Given the description of an element on the screen output the (x, y) to click on. 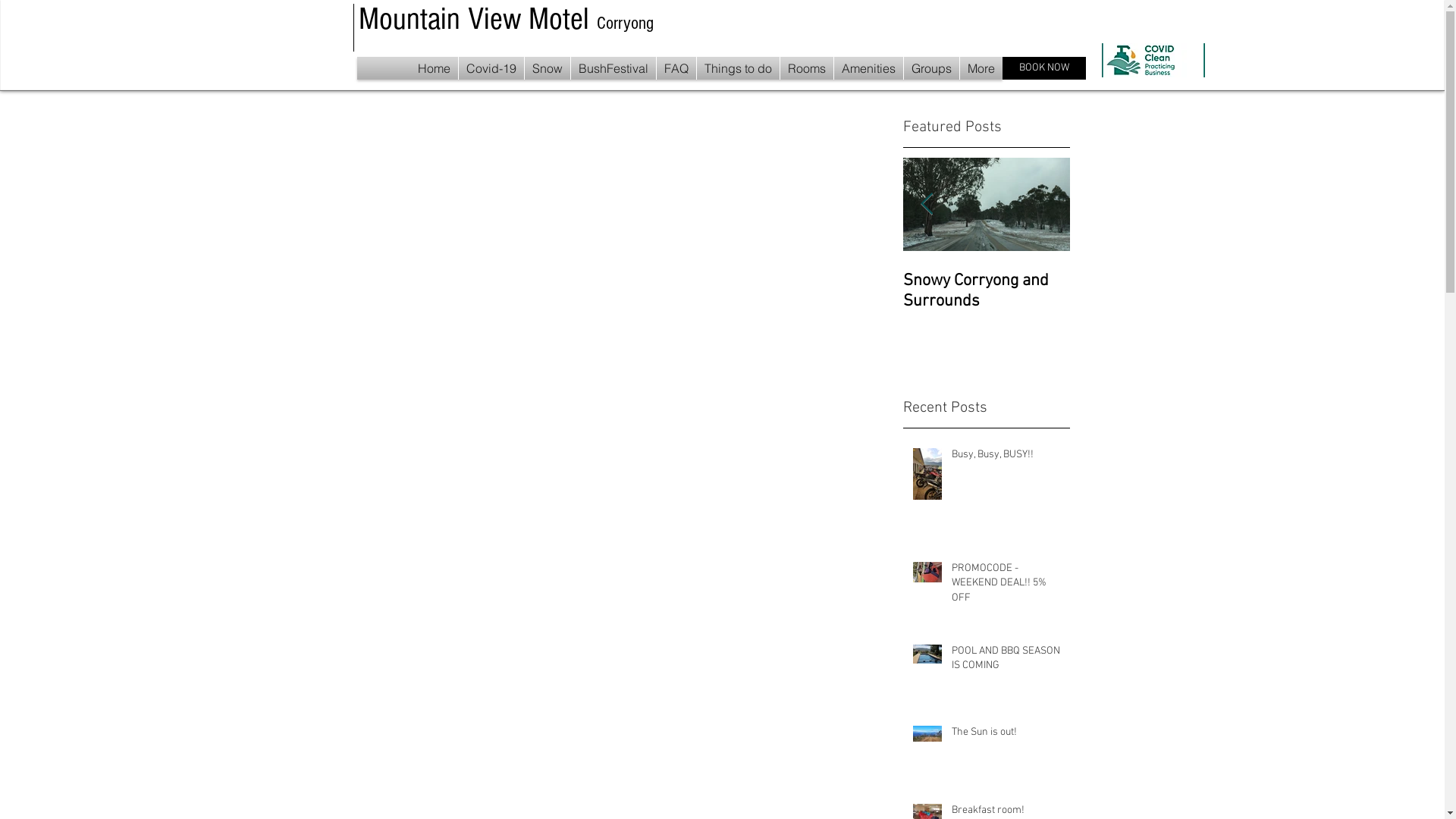
FAQ Element type: text (676, 67)
POOL AND BBQ SEASON IS COMING Element type: text (1005, 661)
New Mattresses Element type: text (818, 280)
Corryong Element type: text (624, 22)
Best rates NOW guaranteed! Element type: text (151, 290)
Groups Element type: text (931, 67)
Things to do Element type: text (737, 67)
BushFestival Element type: text (612, 67)
Mountain View Motel  Element type: text (476, 19)
The Sun is out! Element type: text (1005, 735)
Snowy Corryong and Surrounds Element type: text (985, 290)
Snow Element type: text (547, 67)
New Pillows Element type: text (651, 280)
BOOK NOW Element type: text (1043, 67)
PROMOCODE - WEEKEND DEAL!! 5% OFF Element type: text (1005, 586)
Amenities Element type: text (868, 67)
Rooms Element type: text (805, 67)
Just had to share this review Element type: text (484, 290)
Room improvements continue Element type: text (318, 290)
Covid-19 Element type: text (490, 67)
Busy, Busy, BUSY!! Element type: text (1005, 457)
Home Element type: text (433, 67)
